Given the description of an element on the screen output the (x, y) to click on. 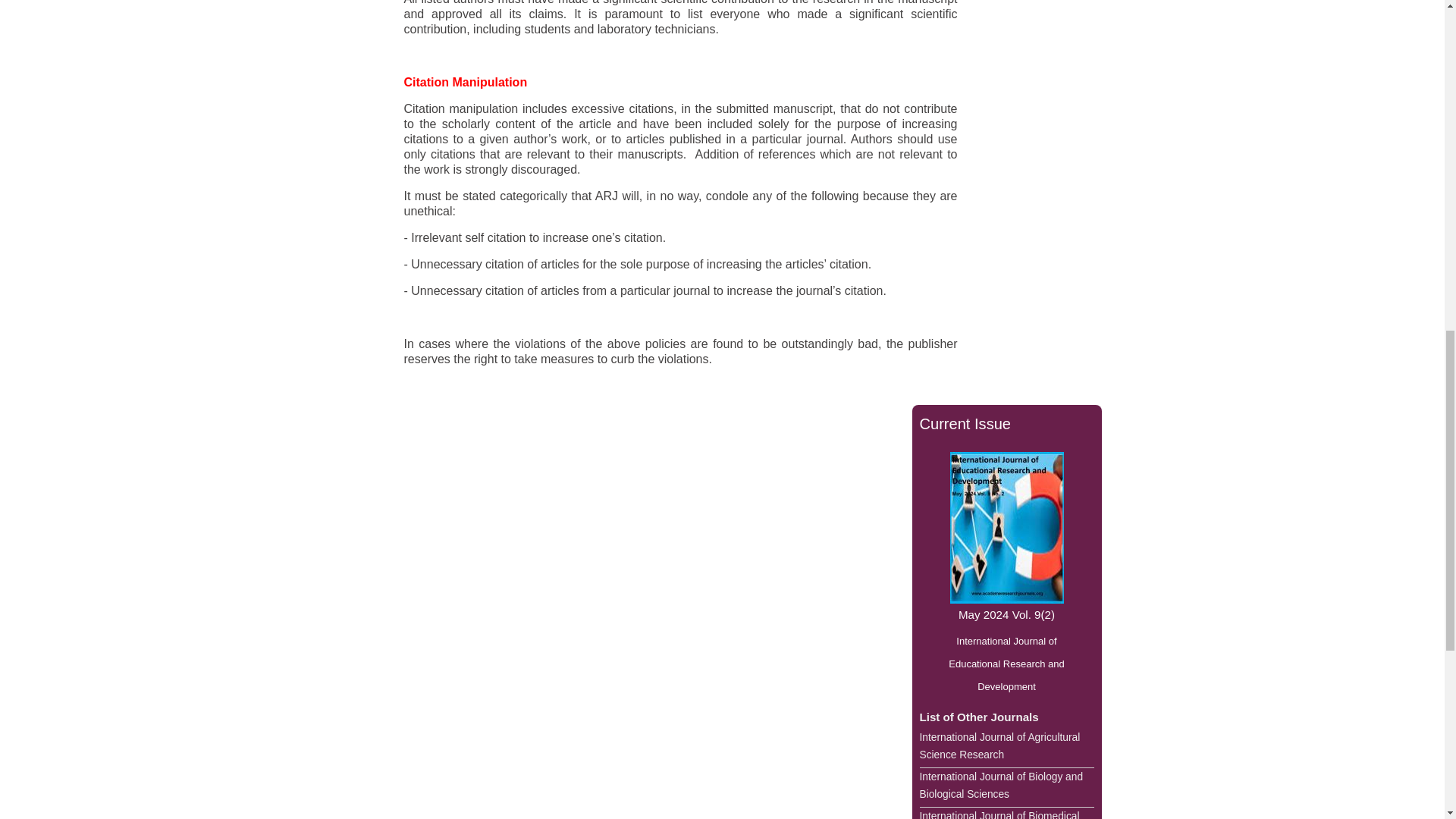
International Journal of Biomedical Science Research (1005, 813)
International Journal of Agricultural Science Research (1005, 748)
International Journal of Biology and Biological Sciences (1005, 787)
